Given the description of an element on the screen output the (x, y) to click on. 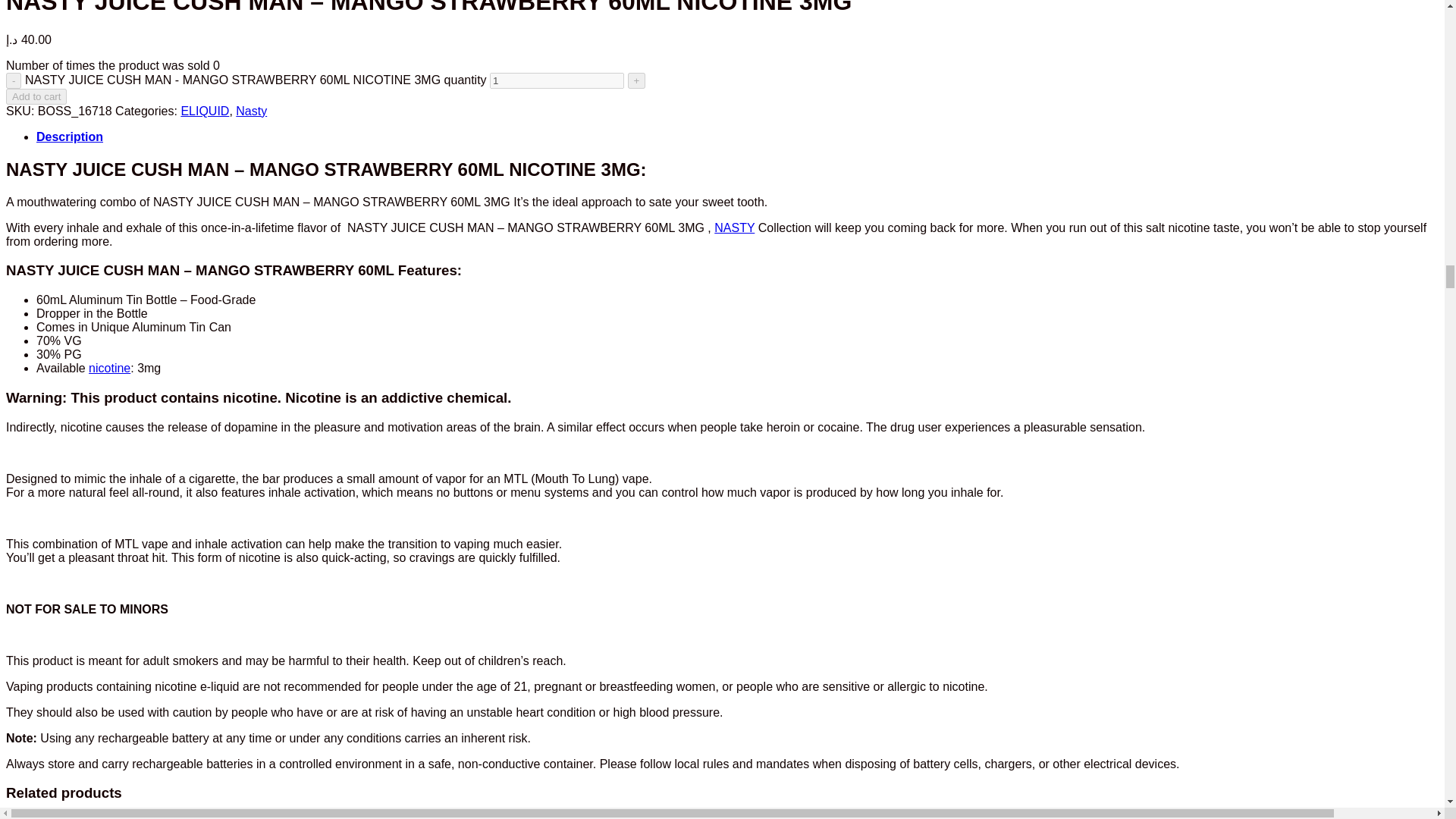
- (13, 80)
1 (556, 80)
